Given the description of an element on the screen output the (x, y) to click on. 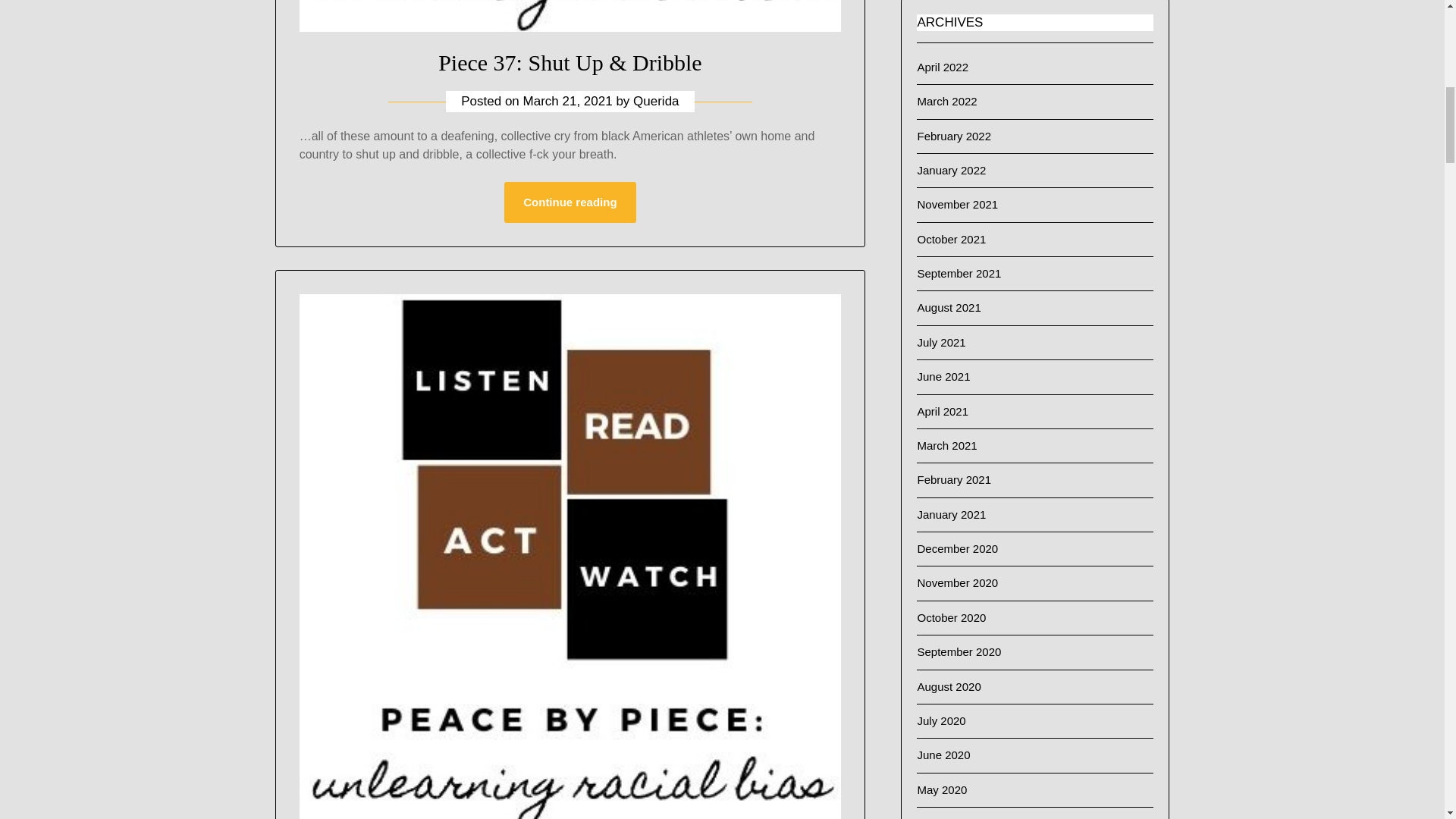
Continue reading (568, 201)
Querida (655, 101)
March 21, 2021 (567, 101)
